Given the description of an element on the screen output the (x, y) to click on. 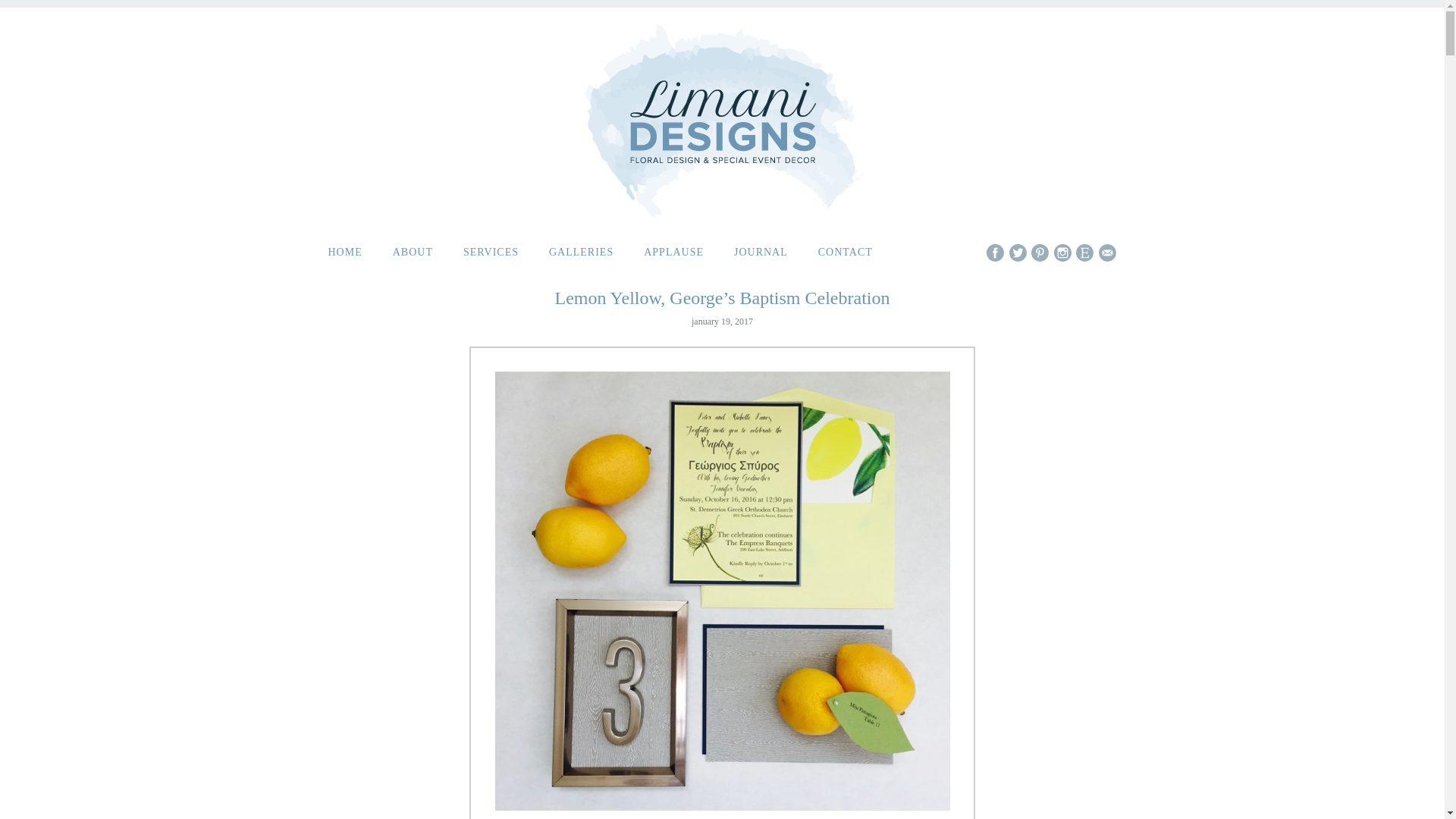
ABOUT (412, 252)
january 19, 2017 (721, 321)
JOURNAL (760, 252)
HOME (344, 252)
SERVICES (490, 252)
APPLAUSE (673, 252)
9:28 am (721, 321)
GALLERIES (580, 252)
CONTACT (845, 252)
